Given the description of an element on the screen output the (x, y) to click on. 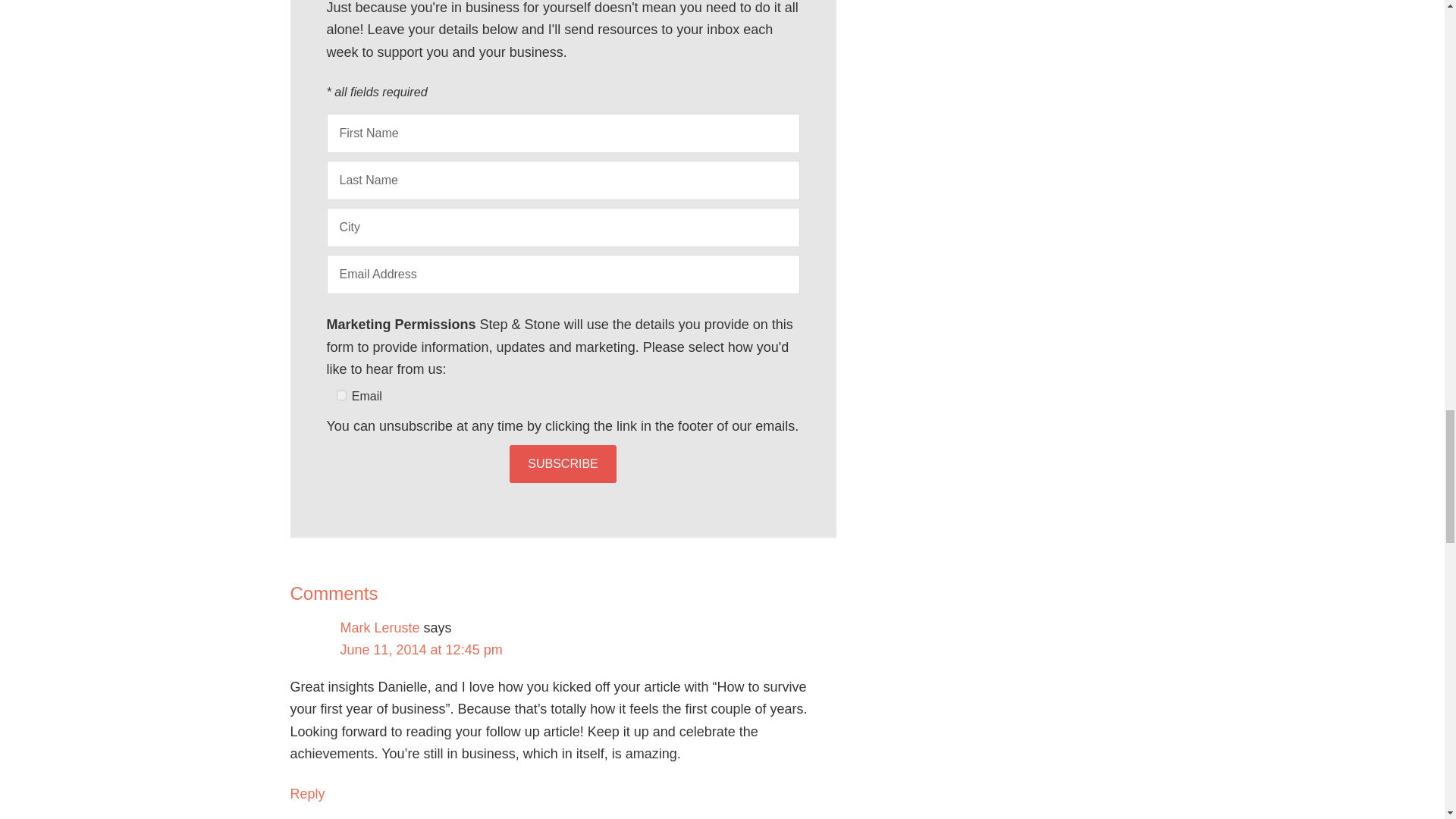
Subscribe (562, 464)
June 11, 2014 at 12:45 pm (420, 649)
Mark Leruste (379, 627)
Subscribe (562, 464)
Y (341, 395)
Reply (306, 793)
